Given the description of an element on the screen output the (x, y) to click on. 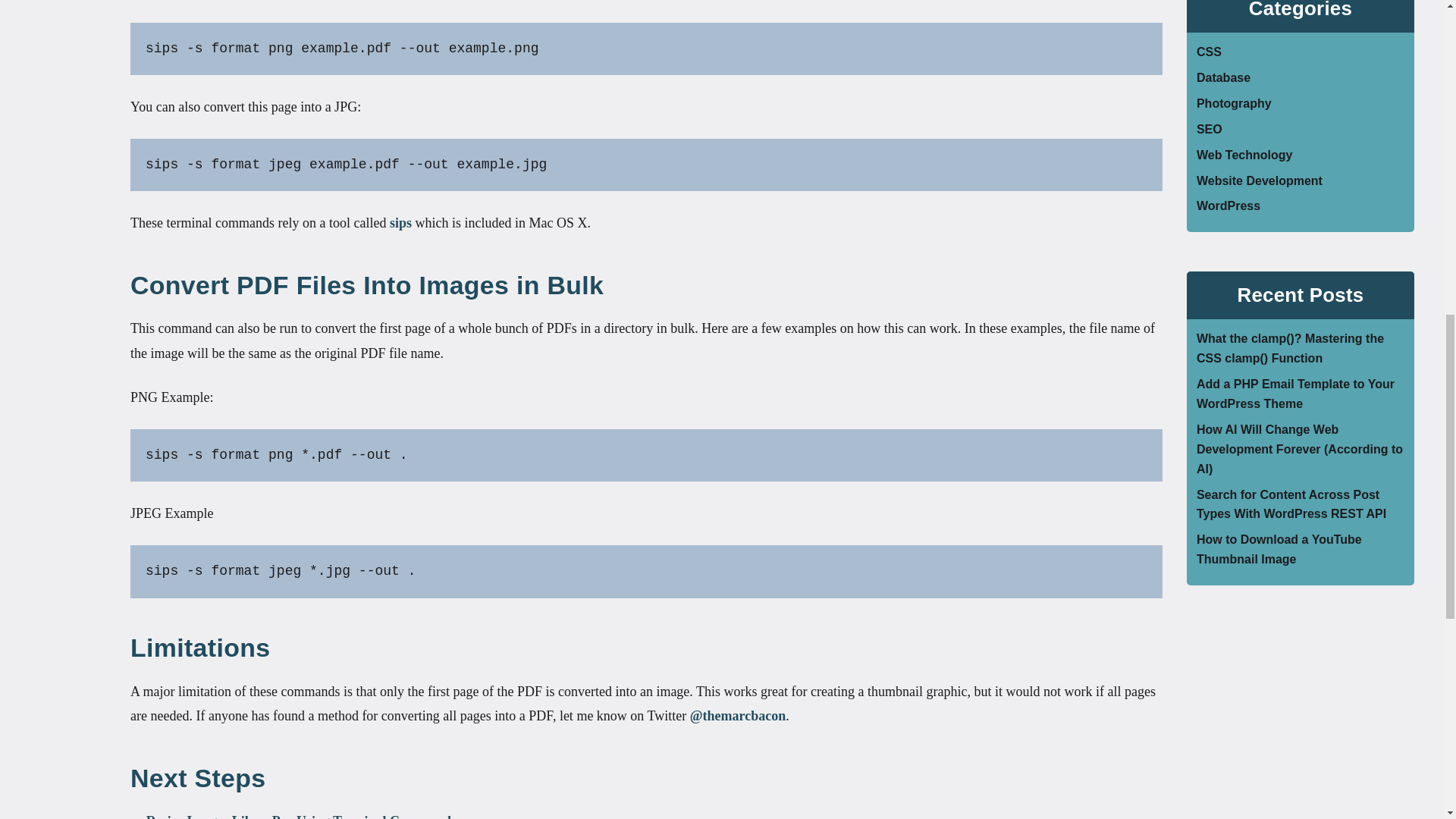
Web Technology (1244, 154)
Website Development (1259, 180)
CSS (1208, 51)
Database (1223, 77)
Resize Images Like a Pro Using Terminal Commands (302, 816)
Photography (1233, 103)
sips (401, 222)
Search for Content Across Post Types With WordPress REST API (1291, 504)
SEO (1209, 128)
How to Download a YouTube Thumbnail Image (1278, 549)
